Given the description of an element on the screen output the (x, y) to click on. 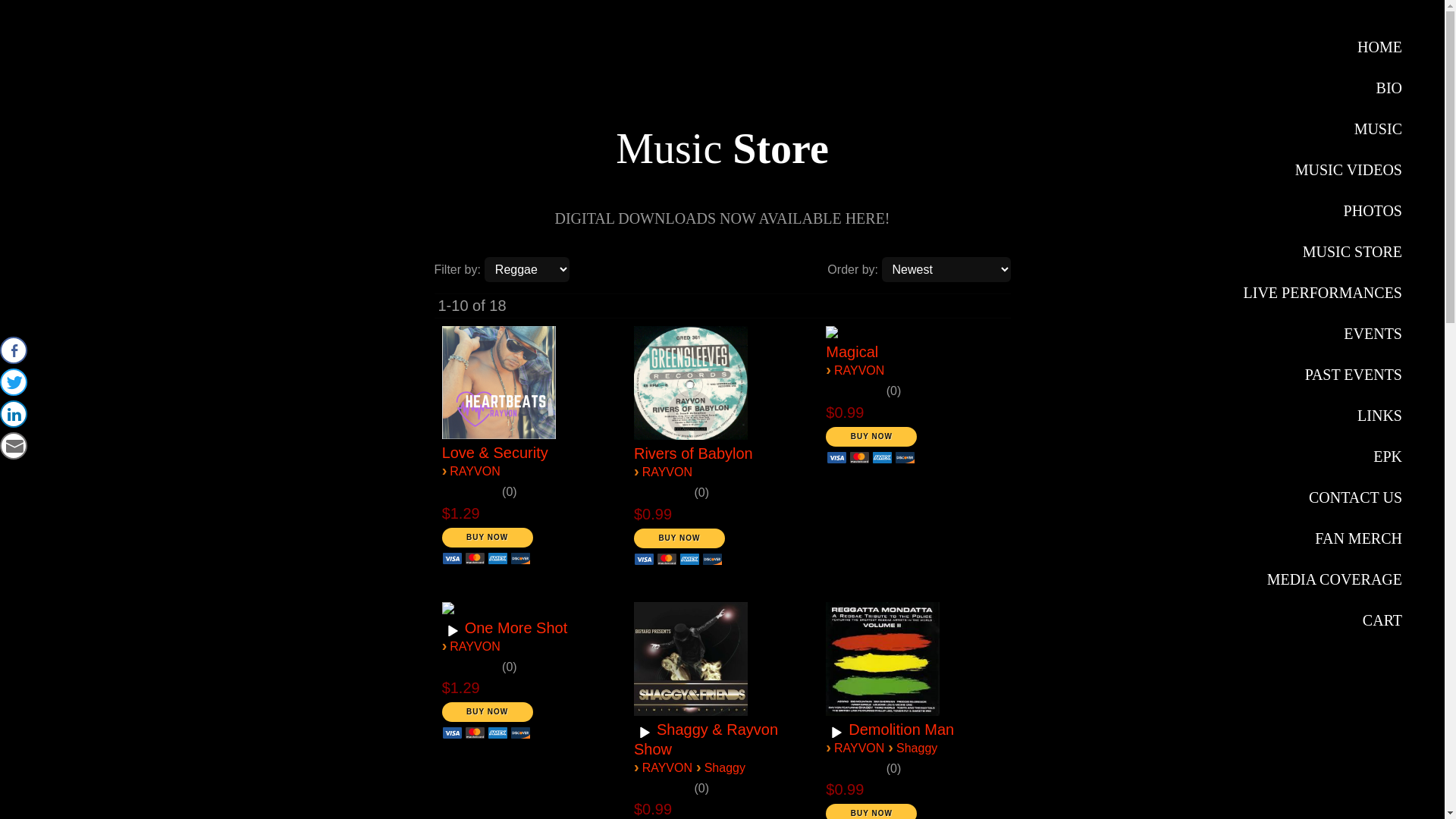
Play Element type: hover (836, 732)
Magical Element type: text (851, 351)
MUSIC VIDEOS Element type: text (1322, 169)
RAYVON Element type: text (474, 646)
Demolition Man Element type: text (900, 729)
Shaggy & Rayvon Show Element type: text (705, 739)
Buy Now Element type: text (870, 436)
EPK Element type: text (1322, 456)
PAST EVENTS Element type: text (1322, 374)
LIVE PERFORMANCES Element type: text (1322, 292)
One More Shot Element type: text (515, 627)
RAYVON Element type: text (859, 747)
CONTACT US Element type: text (1322, 496)
MUSIC STORE Element type: text (1322, 251)
MUSIC Element type: text (1322, 128)
Rivers of Babylon Element type: text (693, 453)
CART Element type: text (1322, 619)
Buy Now Element type: text (678, 538)
PHOTOS Element type: text (1322, 210)
BIO Element type: text (1322, 87)
Shaggy Element type: text (916, 747)
FAN MERCH Element type: text (1322, 537)
RAYVON Element type: text (667, 767)
RAYVON Element type: text (86, 42)
Play Element type: hover (644, 732)
LINKS Element type: text (1322, 415)
MEDIA COVERAGE Element type: text (1322, 578)
RAYVON Element type: text (859, 370)
RAYVON Element type: text (667, 471)
EVENTS Element type: text (1322, 333)
Shaggy Element type: text (724, 767)
Love & Security Element type: text (495, 452)
Play Element type: hover (452, 631)
Buy Now Element type: text (487, 537)
RAYVON Element type: text (474, 470)
HOME Element type: text (1322, 46)
Buy Now Element type: text (487, 711)
